Given the description of an element on the screen output the (x, y) to click on. 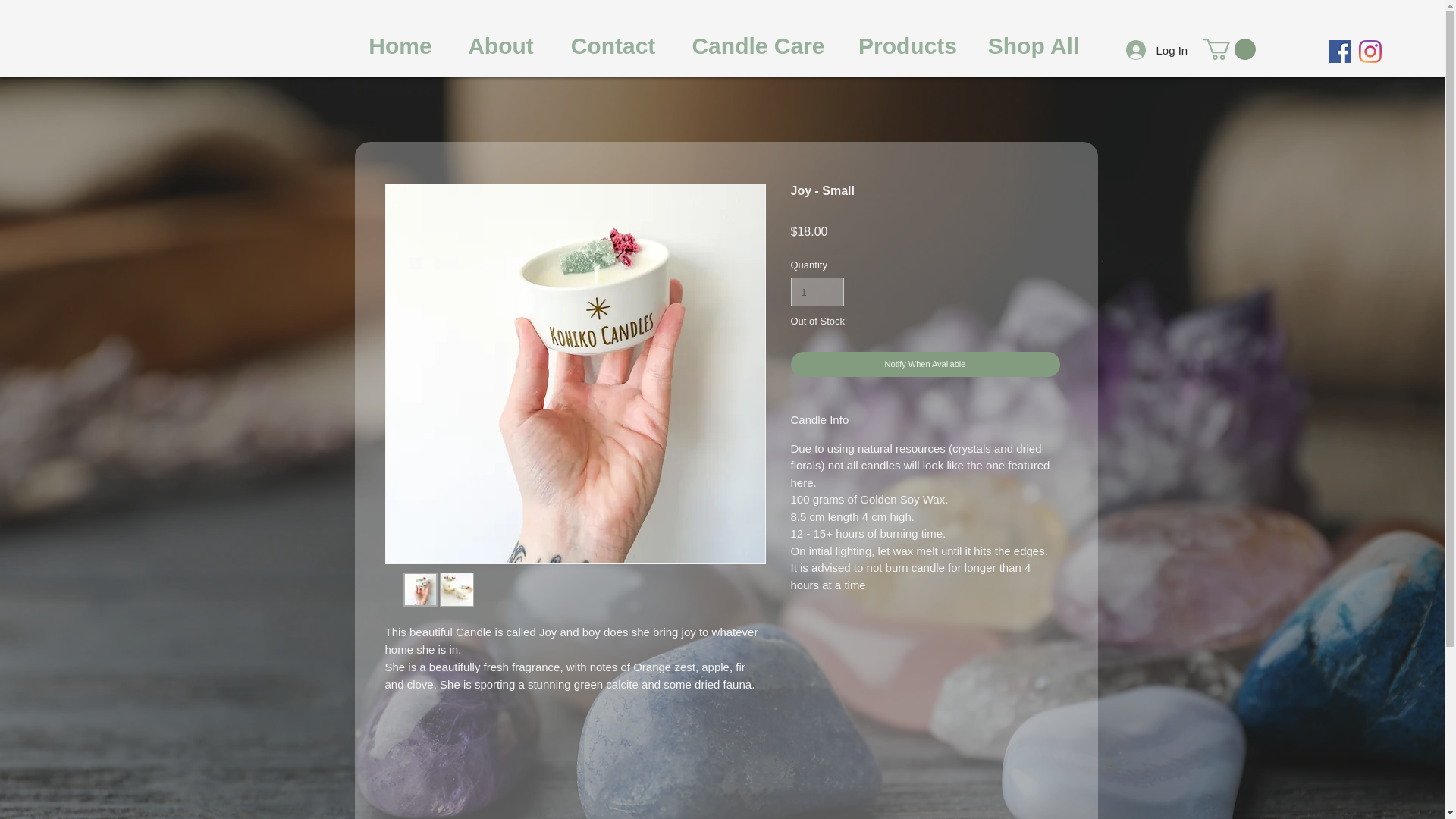
Log In (1145, 50)
Shop All (1034, 45)
Candle Info (924, 420)
Products (907, 45)
About (500, 45)
Candle Care (759, 45)
1 (817, 291)
Notify When Available (924, 364)
Home (400, 45)
Contact (612, 45)
